Given the description of an element on the screen output the (x, y) to click on. 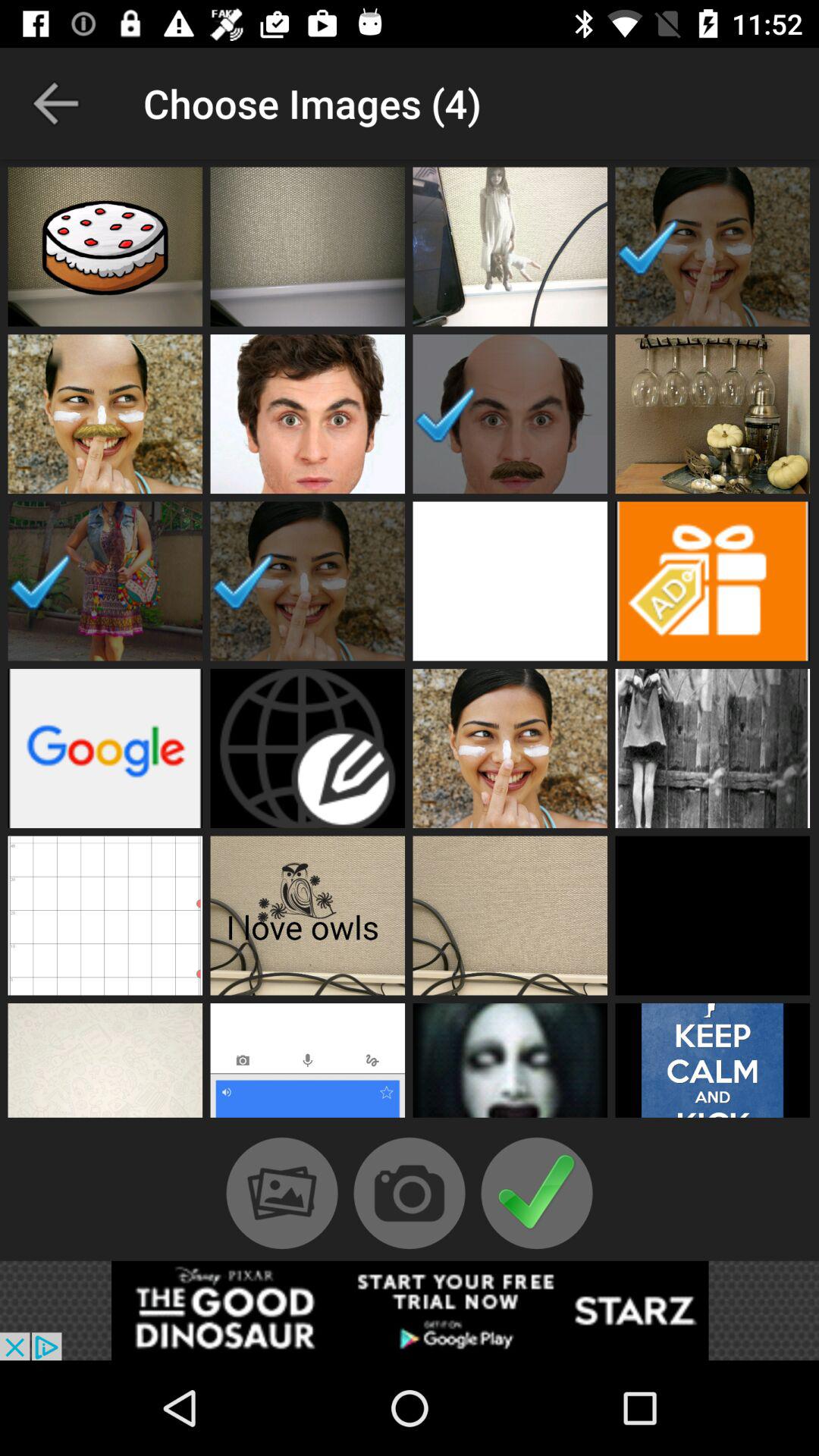
select image (104, 915)
